Given the description of an element on the screen output the (x, y) to click on. 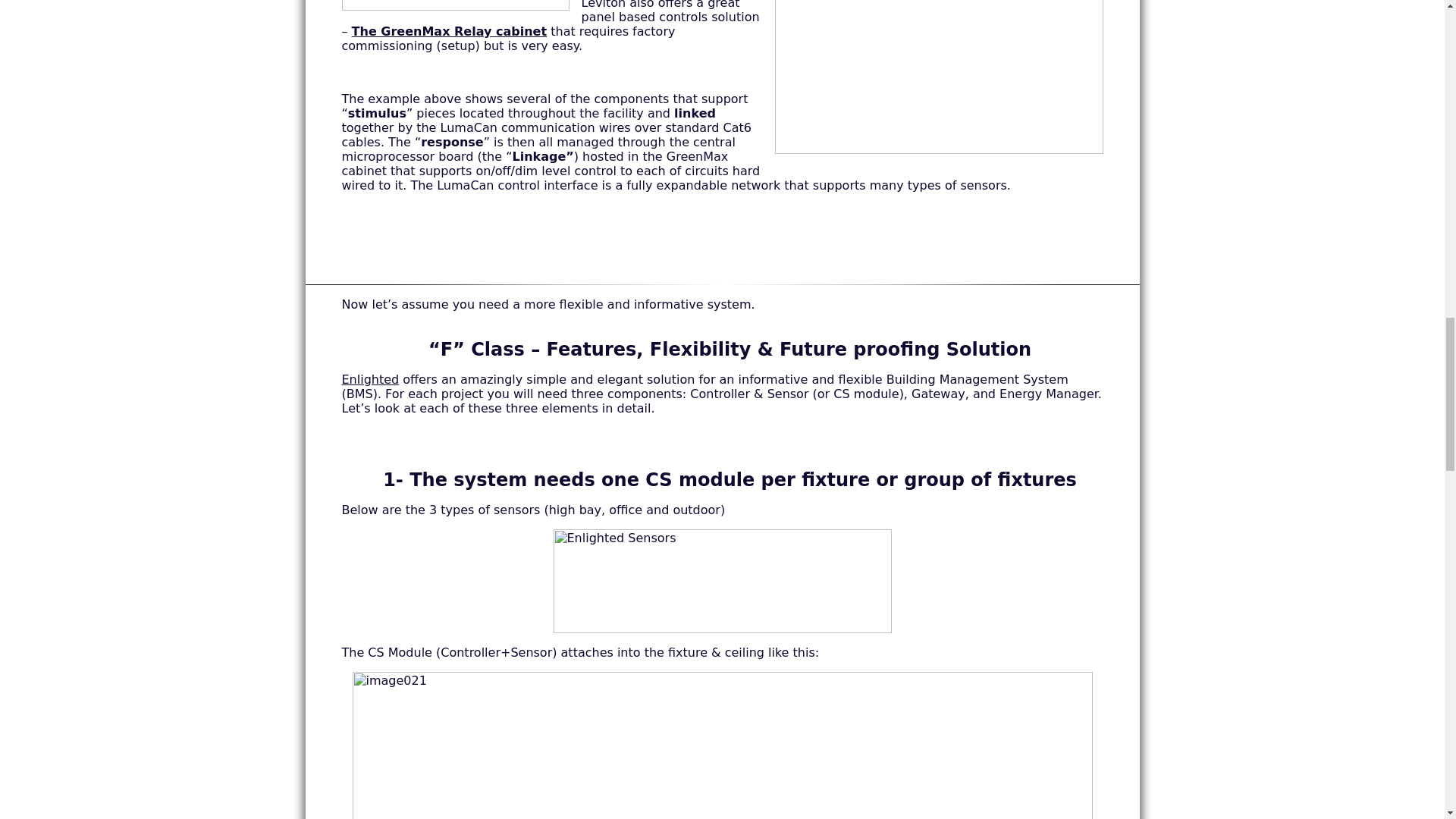
The GreenMax Relay cabinet (449, 31)
Enlighted (369, 379)
